Given the description of an element on the screen output the (x, y) to click on. 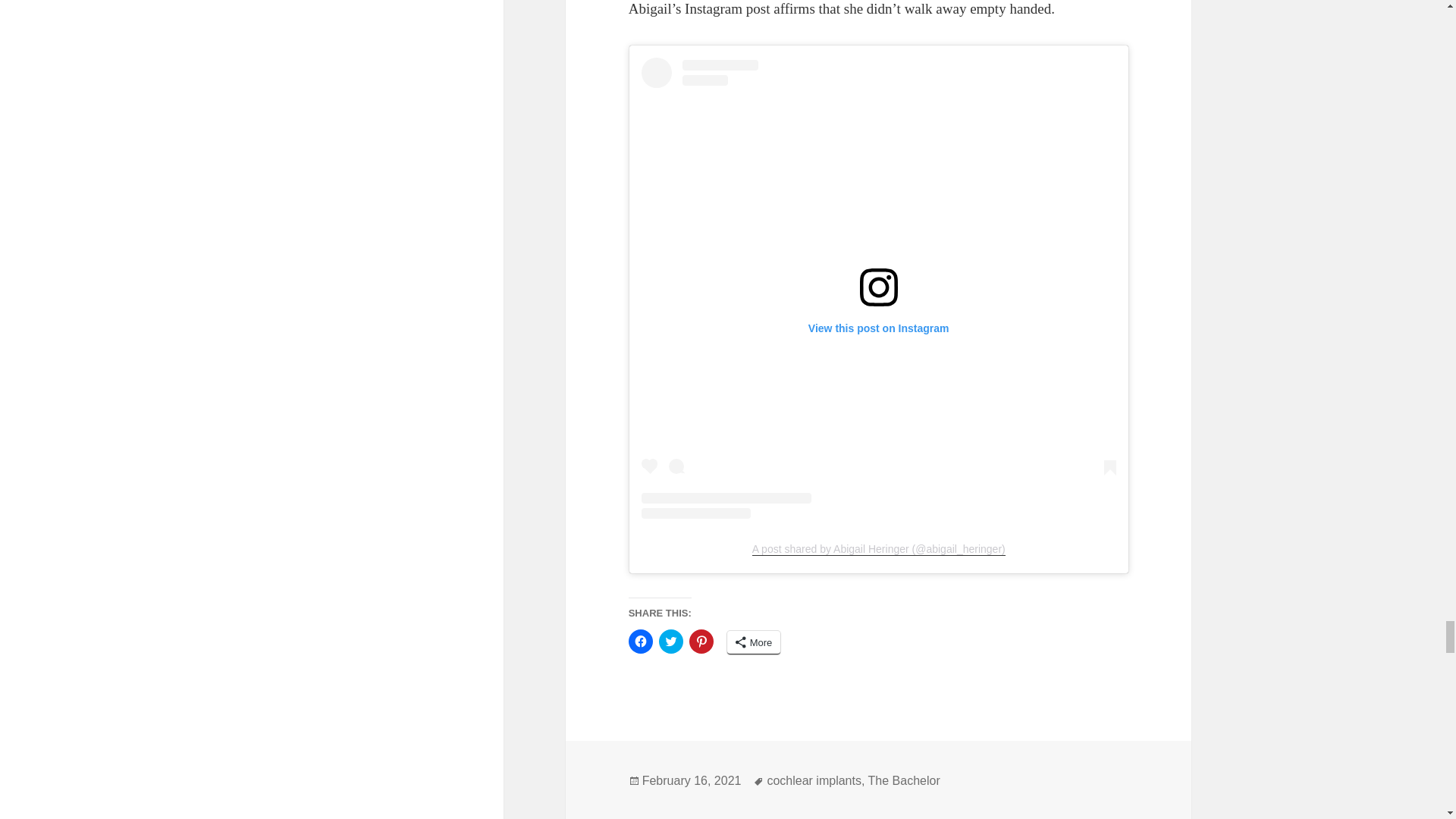
Click to share on Pinterest (700, 641)
Click to share on Twitter (670, 641)
Click to share on Facebook (640, 641)
